Given the description of an element on the screen output the (x, y) to click on. 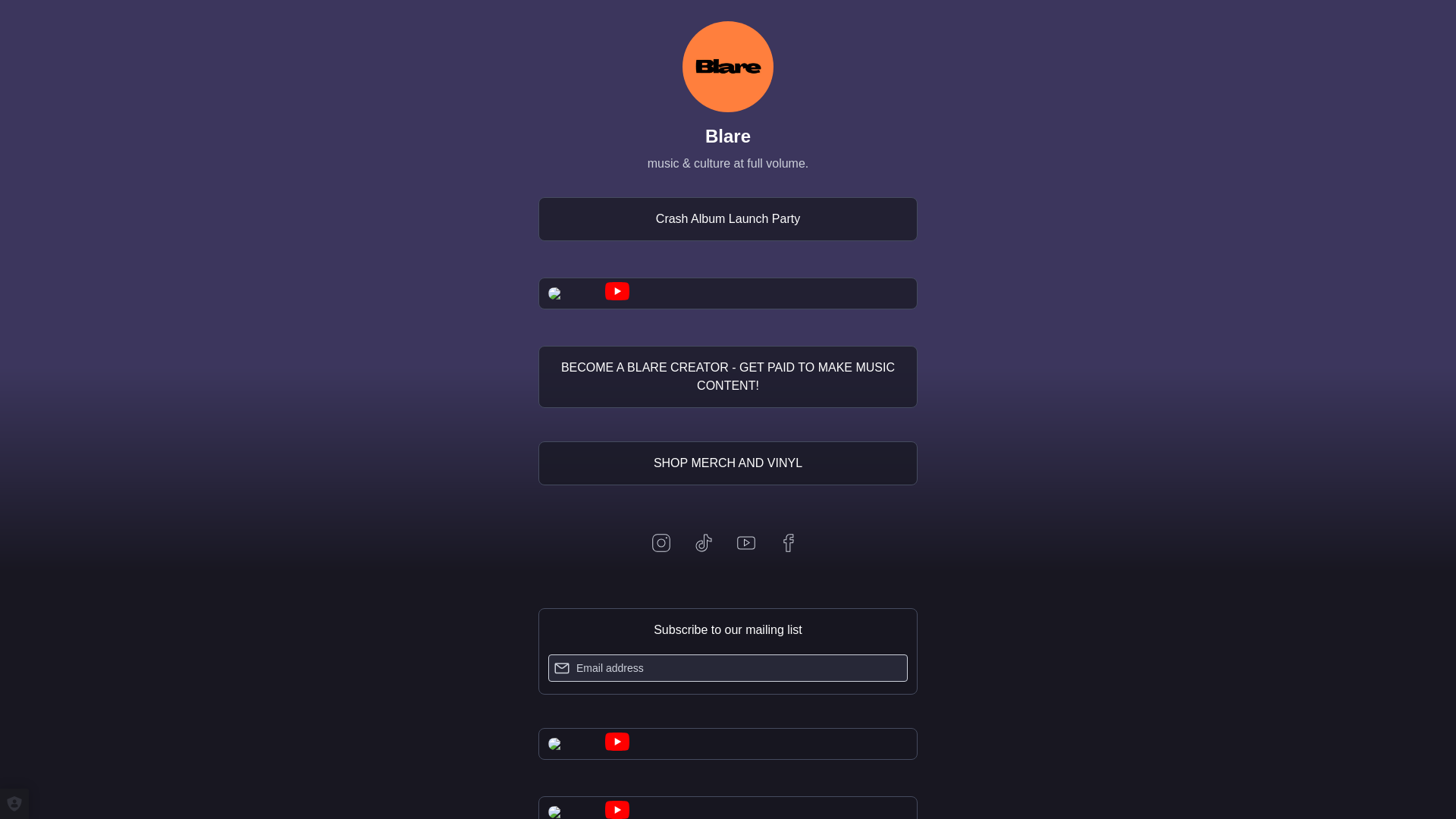
BECOME A BLARE CREATOR - GET PAID TO MAKE MUSIC CONTENT! (727, 376)
SHOP MERCH AND VINYL (727, 463)
BECOME A BLARE CREATOR - GET PAID TO MAKE MUSIC CONTENT! (727, 376)
Crash Album Launch Party (727, 218)
Privacy settings (14, 803)
SHOP MERCH AND VINYL (727, 463)
Crash Album Launch Party (727, 218)
